Given the description of an element on the screen output the (x, y) to click on. 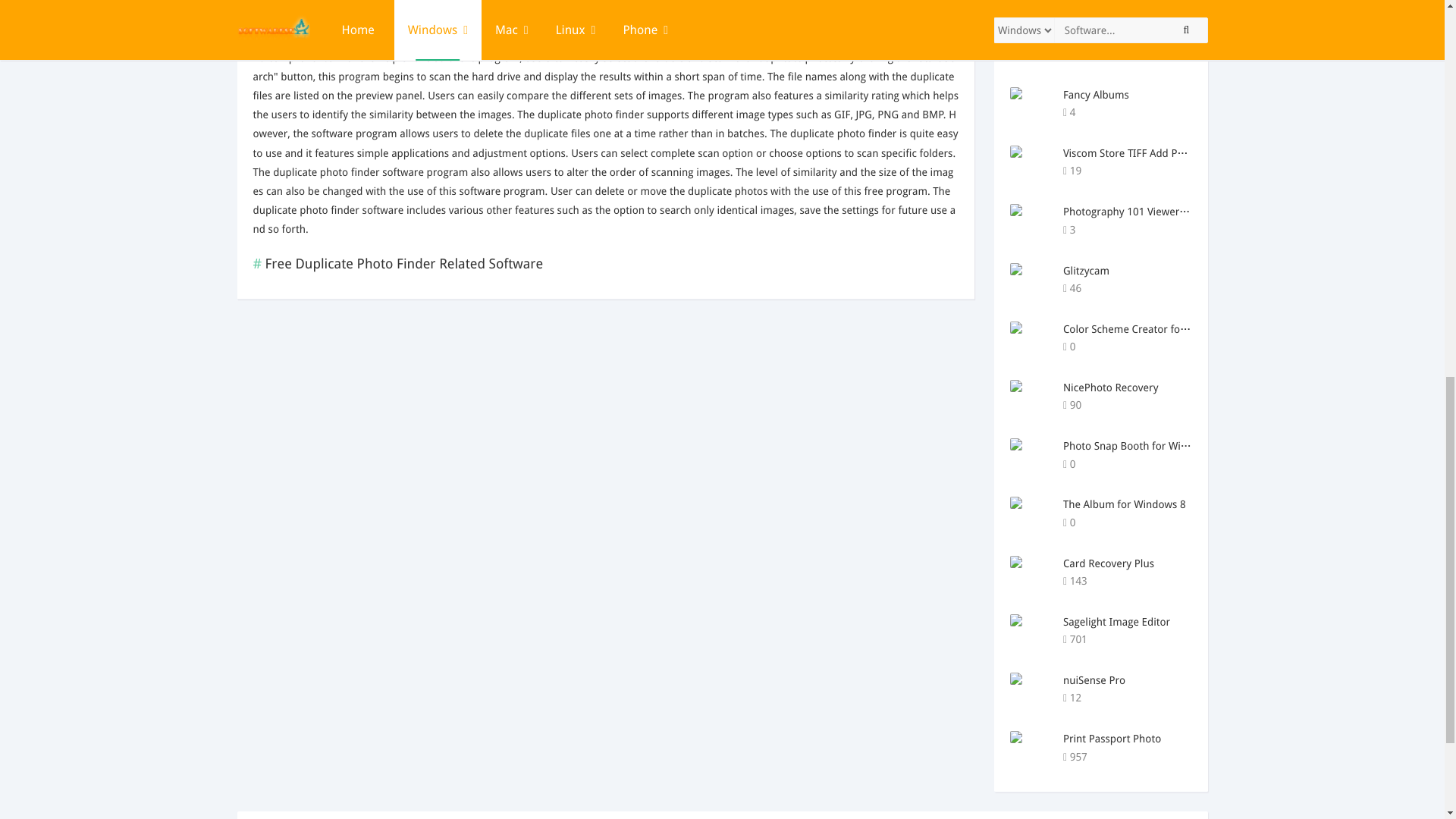
Watch videos from the Photography 101 blog. (1176, 229)
Design your own template for your virtual photo booth. (1176, 288)
See the photos are on Facebook from your Windows 8 device. (1176, 522)
Edit, modify, and add defects to your digital images. (1176, 54)
Create fancy albums using collages. (1176, 112)
Convert PS files to JPG format. (1176, 2)
